Given the description of an element on the screen output the (x, y) to click on. 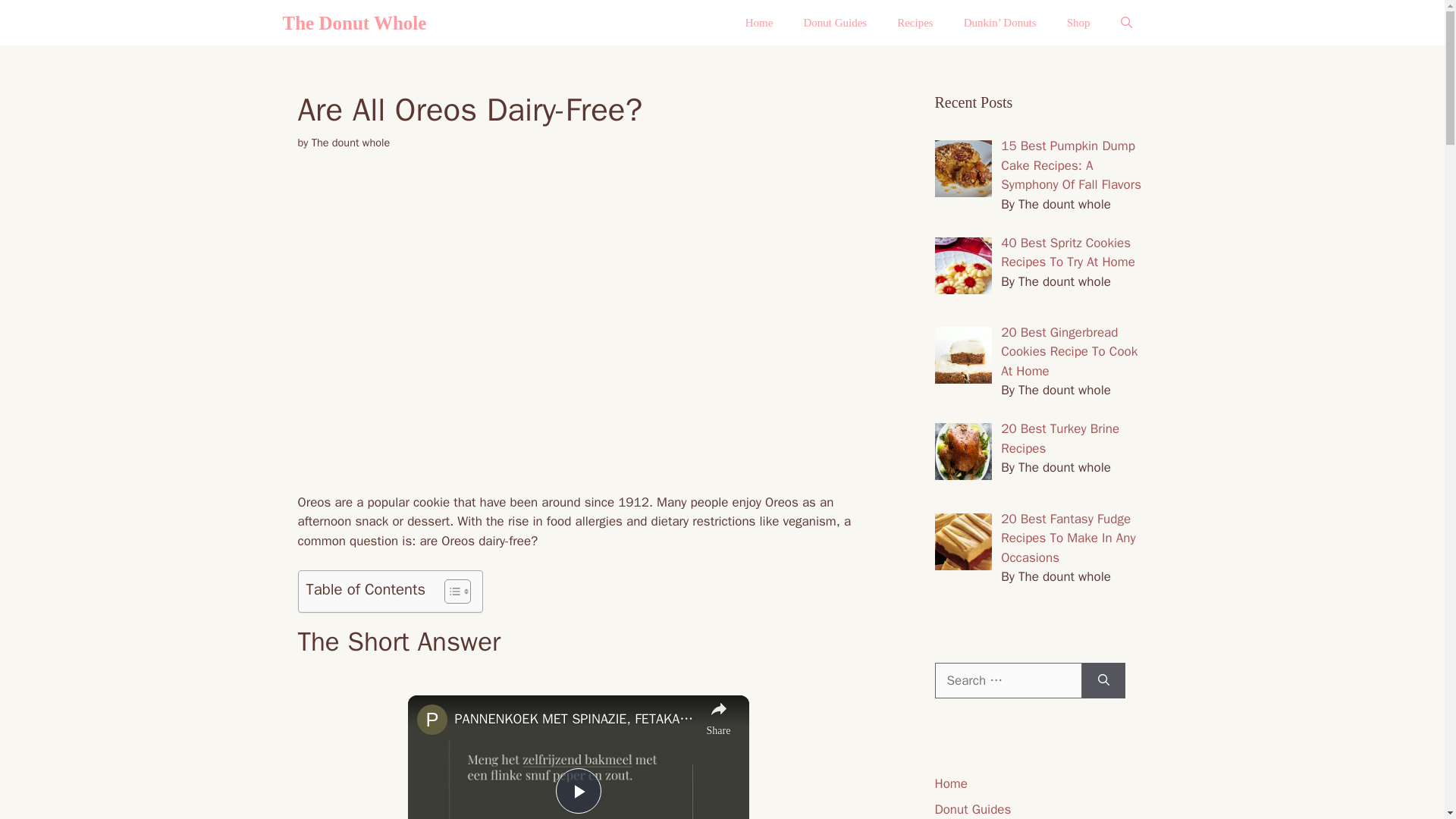
Play Video (576, 791)
The Donut Whole (354, 22)
Home (759, 22)
The dount whole (350, 142)
Recipes (914, 22)
Donut Guides (834, 22)
Shop (1078, 22)
View all posts by The dount whole (350, 142)
Play Video (576, 791)
